Given the description of an element on the screen output the (x, y) to click on. 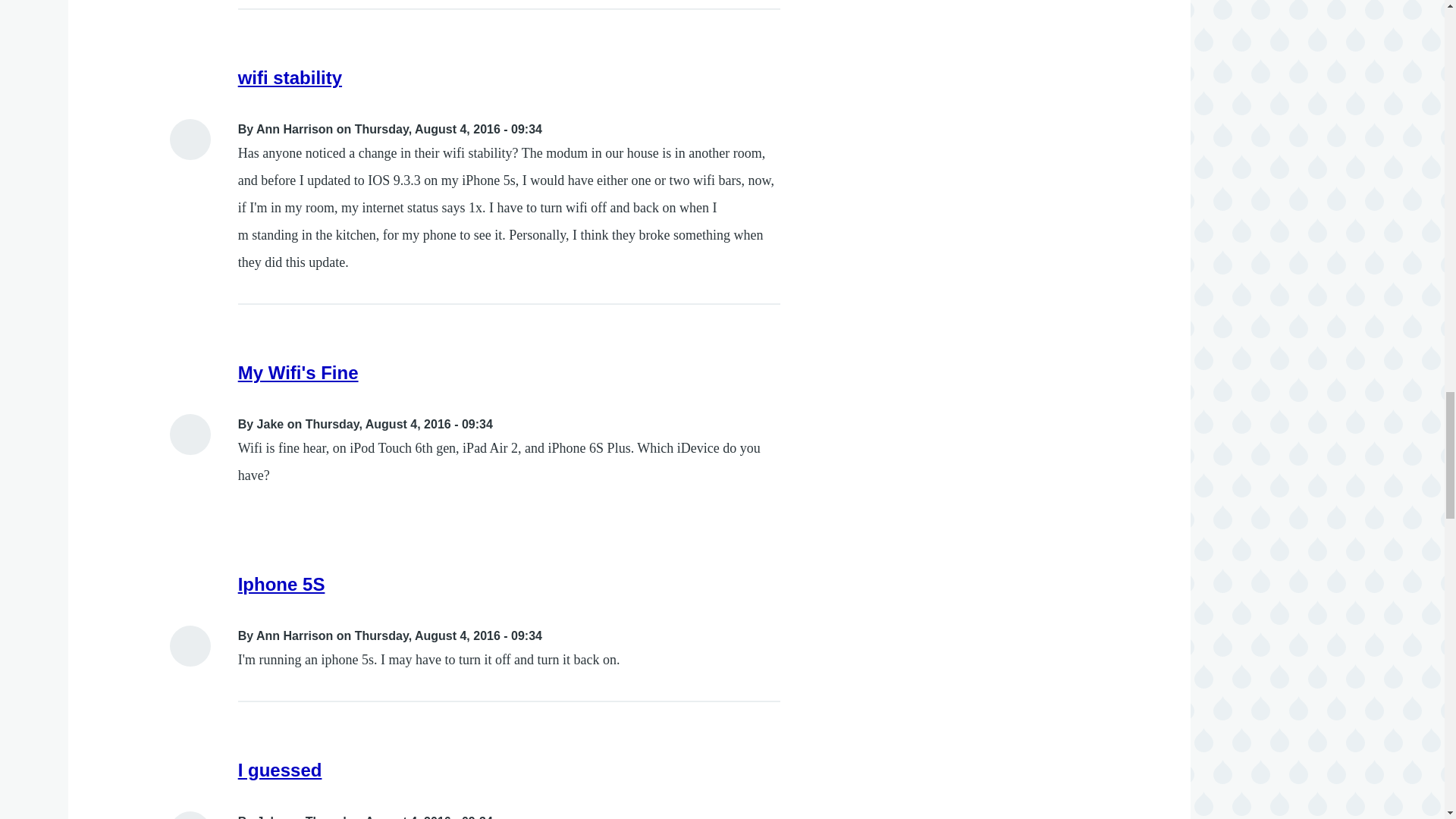
My Wifi's Fine (298, 372)
Iphone 5S (281, 584)
wifi stability (290, 77)
I guessed (279, 770)
